Given the description of an element on the screen output the (x, y) to click on. 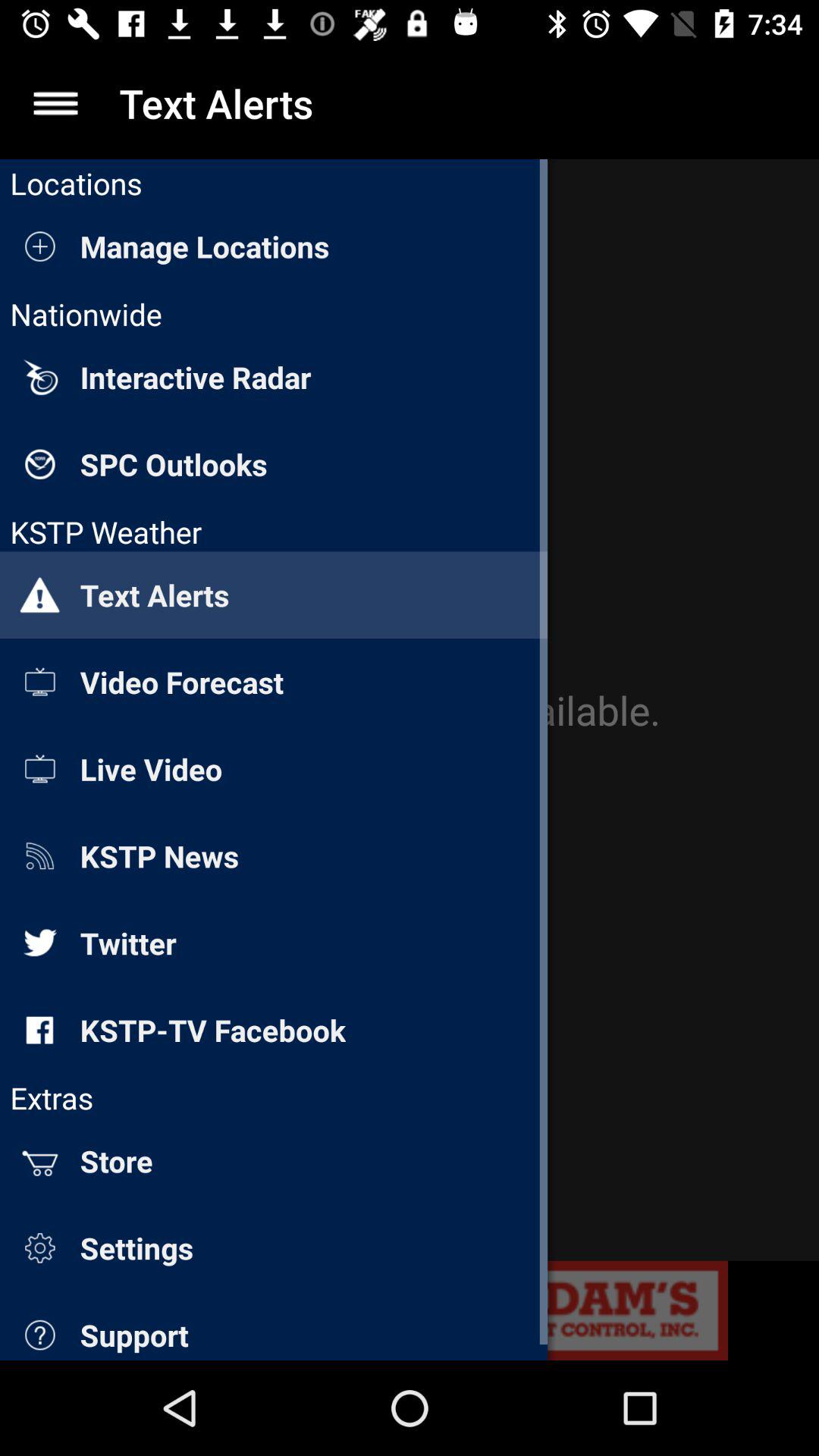
turn off the app next to the text alerts icon (55, 103)
